Given the description of an element on the screen output the (x, y) to click on. 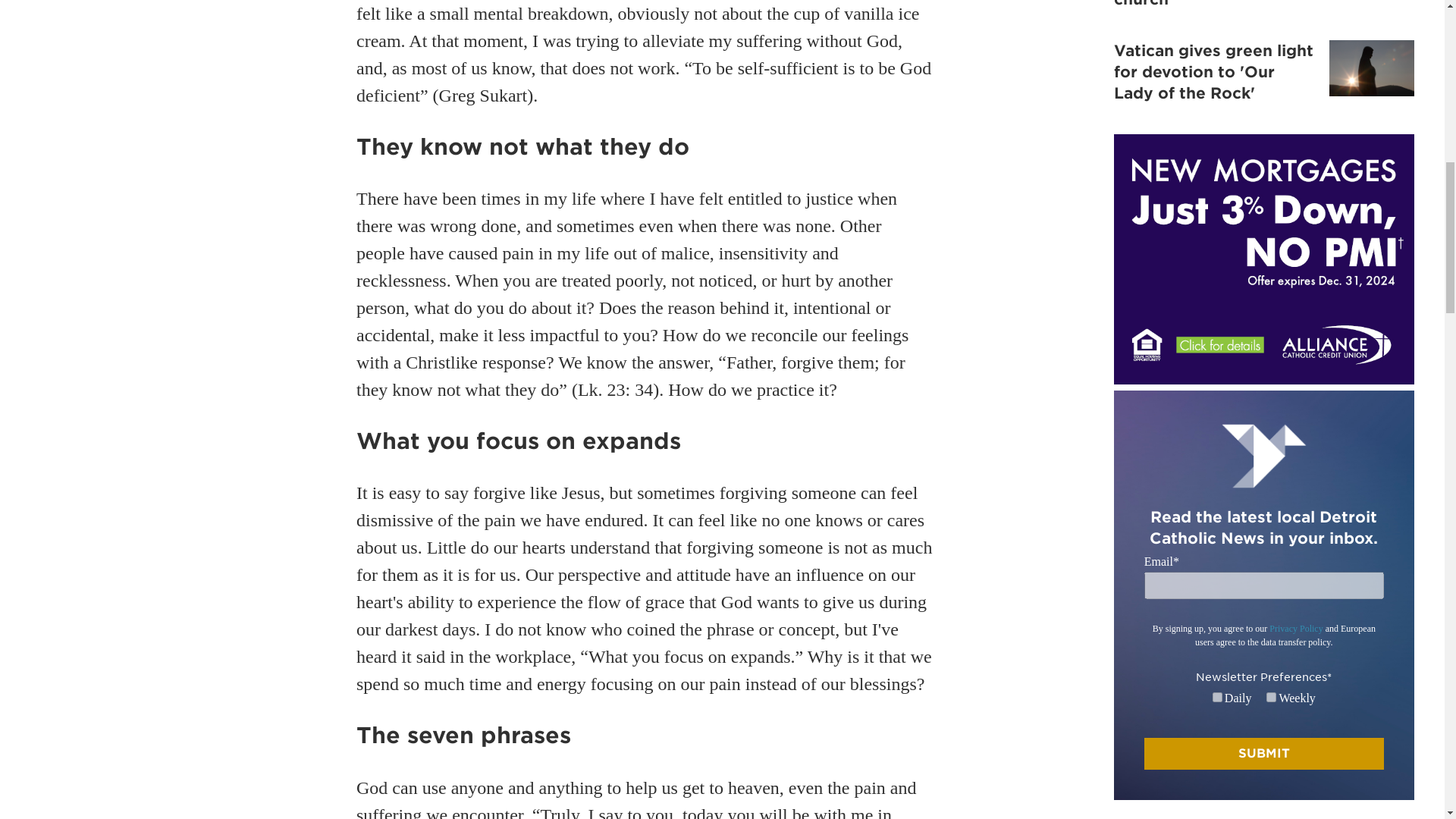
Daily (1217, 696)
Submit (1264, 753)
ACCU: July-Aug Article Sidebar (1263, 259)
Weekly (1271, 696)
